Given the description of an element on the screen output the (x, y) to click on. 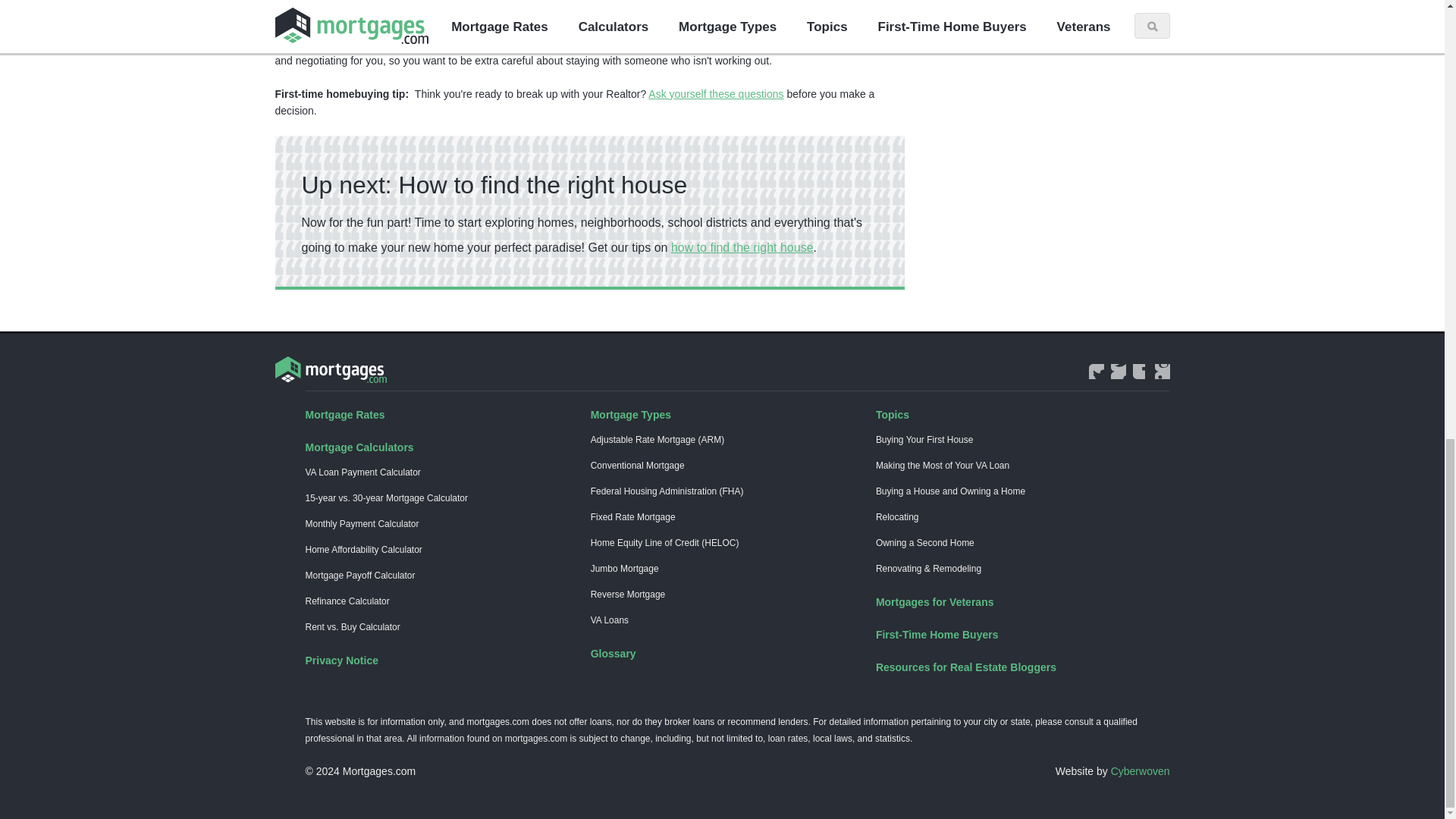
how to find the right house (742, 246)
Ask yourself these questions (715, 93)
